Given the description of an element on the screen output the (x, y) to click on. 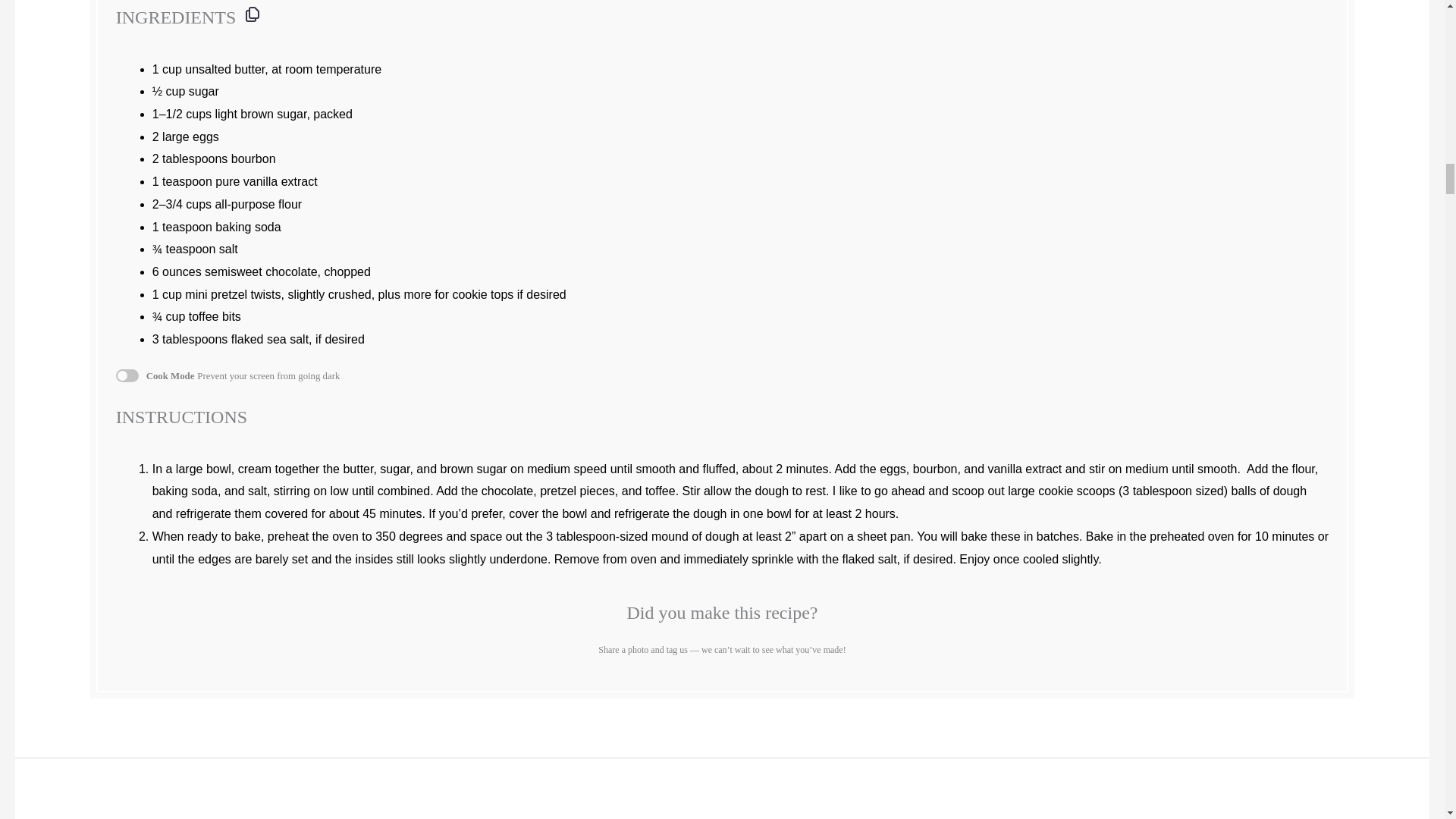
Copy to clipboard Copy to clipboard (252, 13)
